Given the description of an element on the screen output the (x, y) to click on. 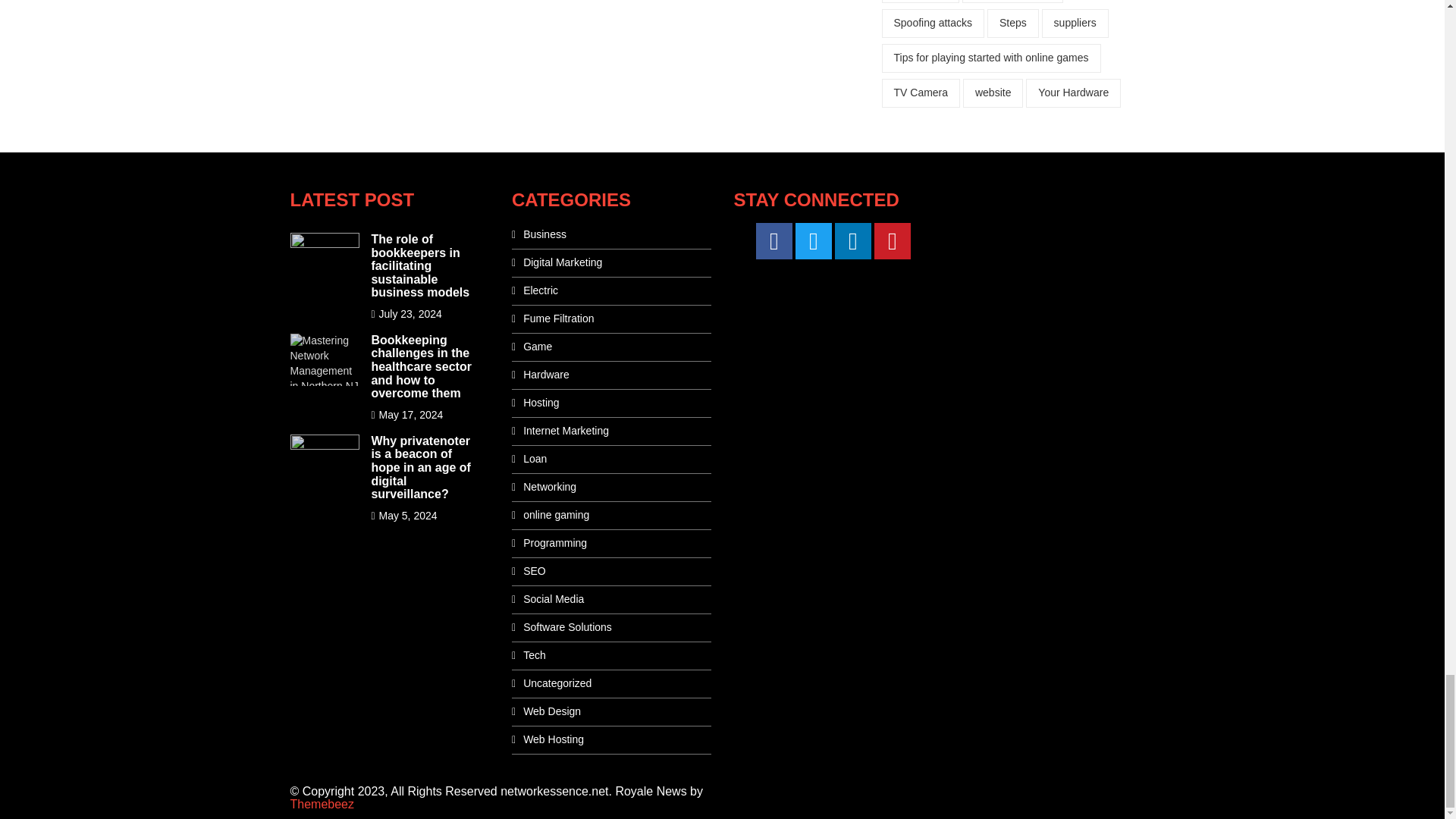
LinkedIn (852, 240)
Pinterest (893, 240)
Facebook (773, 240)
Twitter (812, 240)
